Given the description of an element on the screen output the (x, y) to click on. 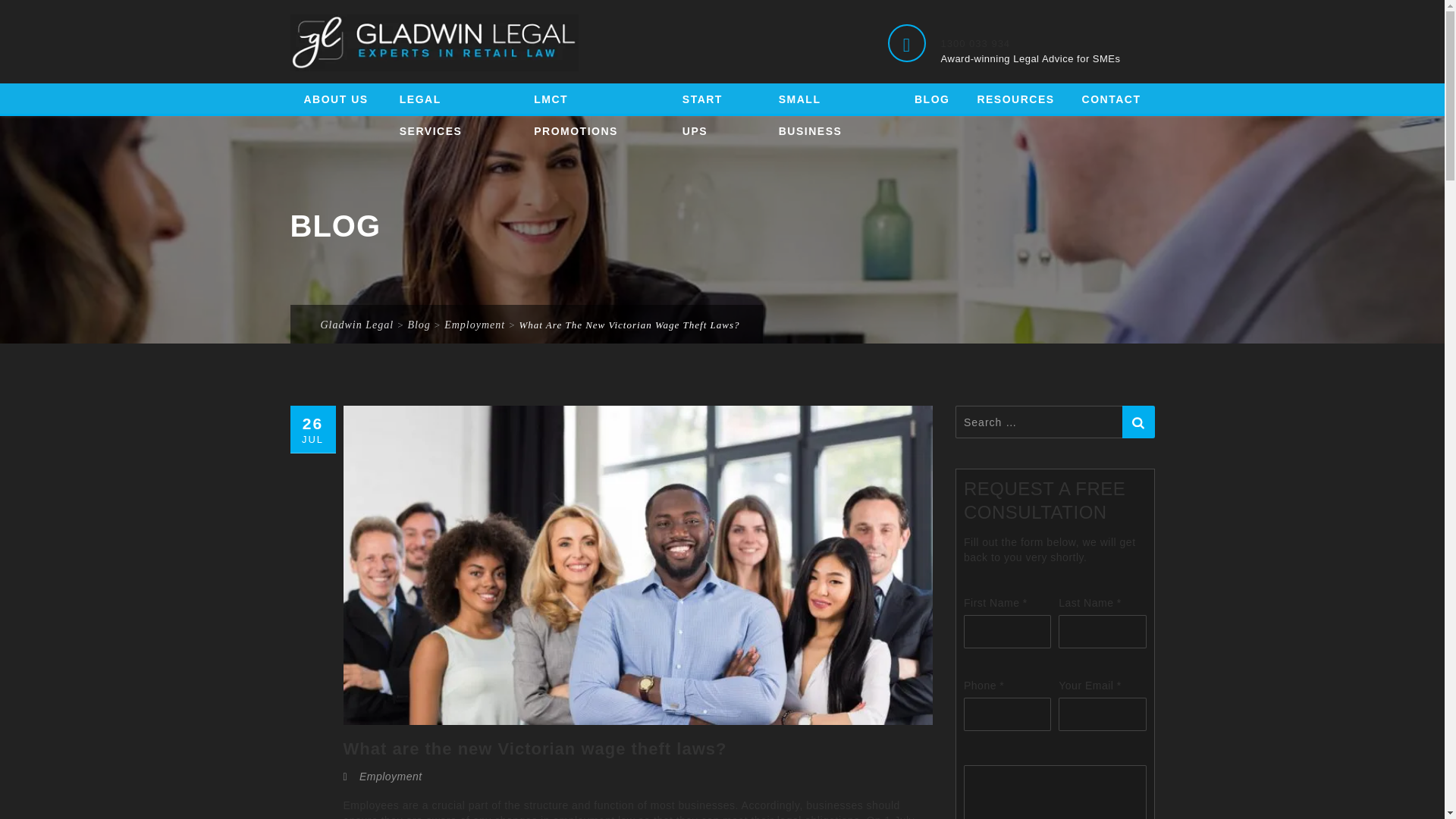
Gladwin Legal (433, 42)
SMALL BUSINESS (833, 94)
1300 033 934 (975, 43)
Search (1138, 421)
ABOUT US (337, 94)
LMCT PROMOTIONS (593, 94)
START UPS (716, 94)
LEGAL SERVICES (452, 94)
Search (1138, 421)
